Given the description of an element on the screen output the (x, y) to click on. 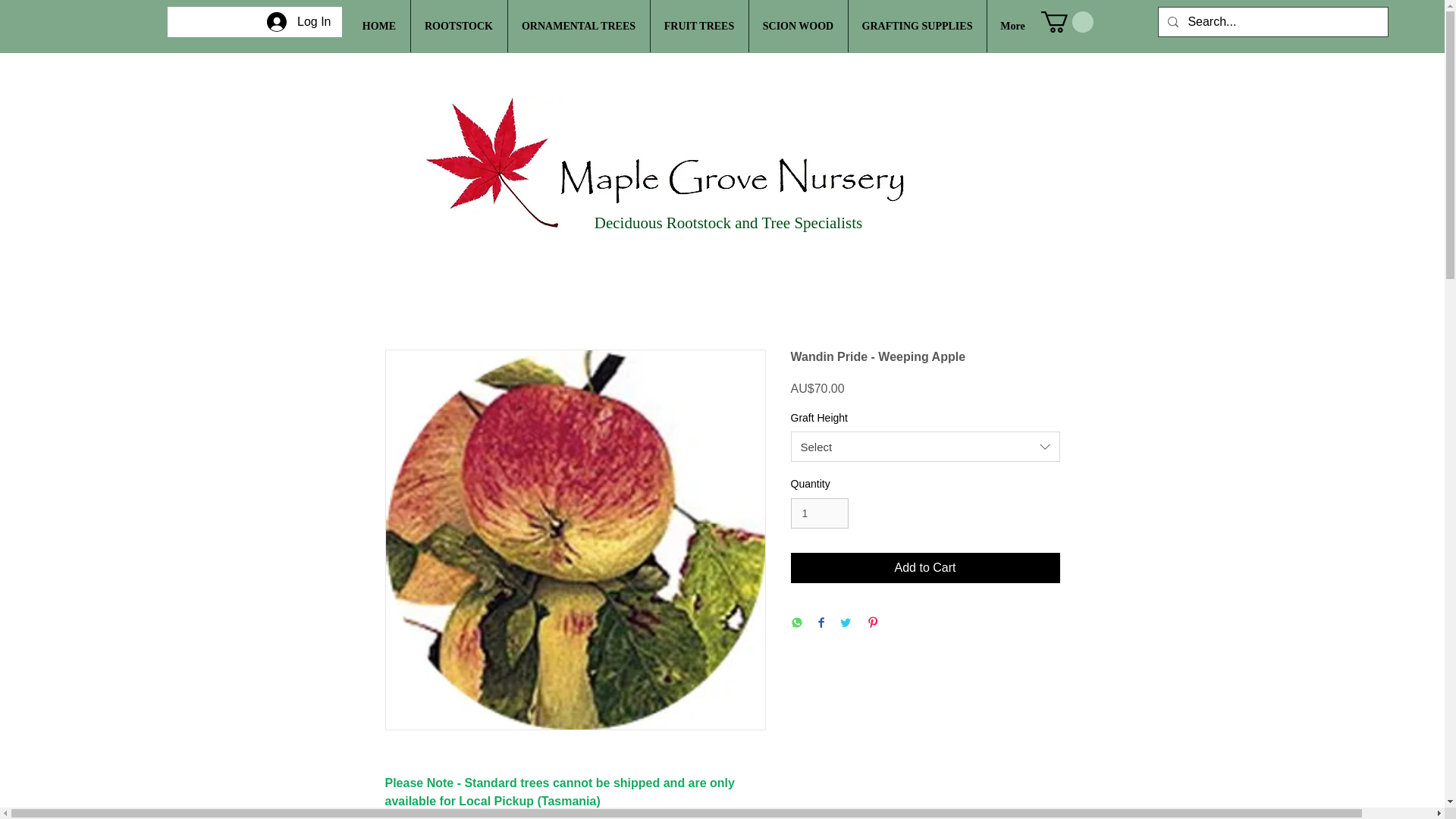
1 (818, 513)
SCION WOOD (797, 26)
FRUIT TREES (698, 26)
ROOTSTOCK (457, 26)
ORNAMENTAL TREES (577, 26)
HOME (379, 26)
GRAFTING SUPPLIES (917, 26)
